Given the description of an element on the screen output the (x, y) to click on. 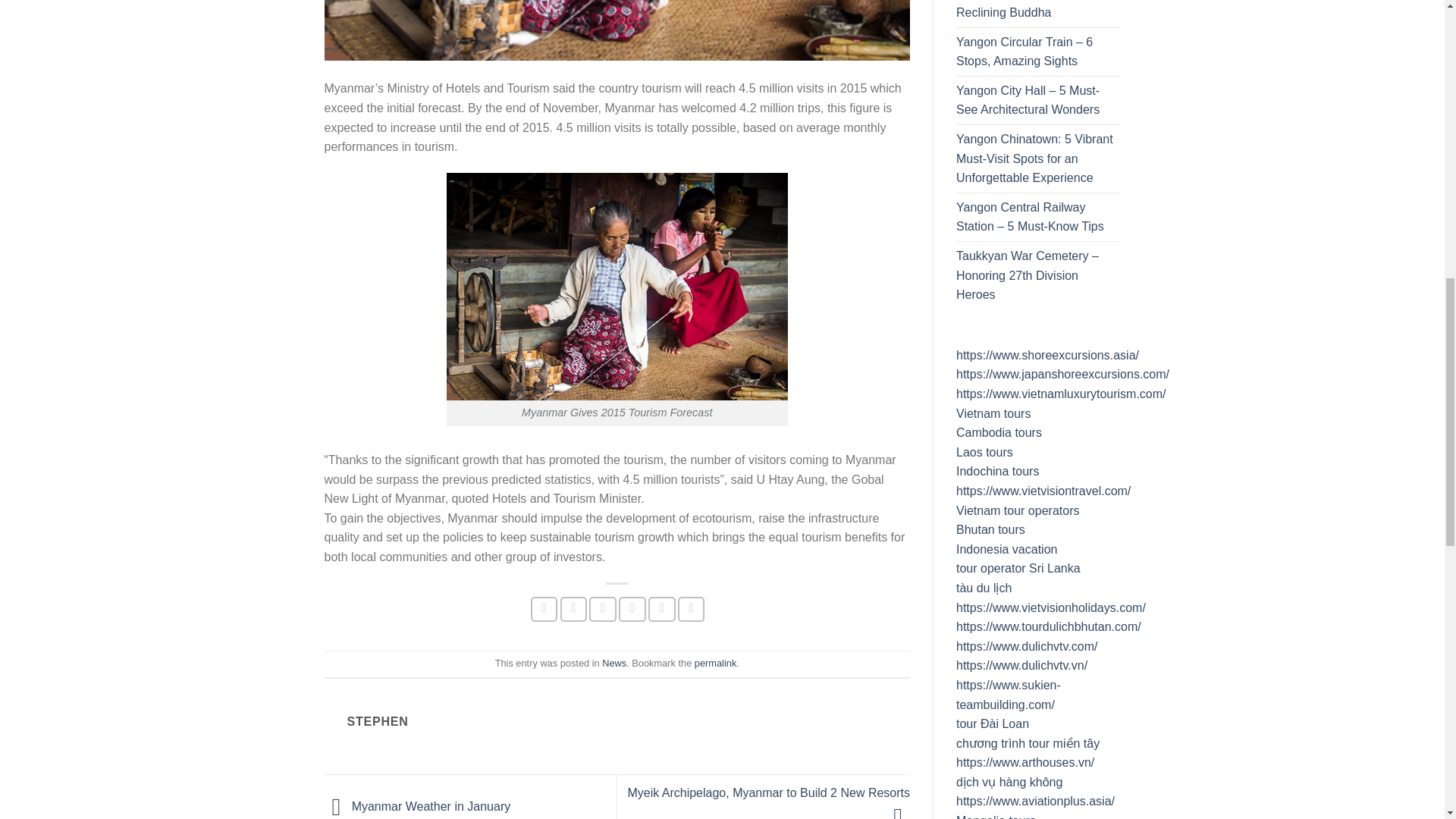
Share on Twitter (574, 609)
Share on Telegram (691, 609)
Permalink to Myanmar Gives 2015 Tourism Forecast (715, 663)
Share on Facebook (544, 609)
Vietnam tours (993, 413)
Share on Tumblr (661, 609)
Email to a Friend (602, 609)
Cambodia tours (999, 431)
Pin on Pinterest (632, 609)
